Given the description of an element on the screen output the (x, y) to click on. 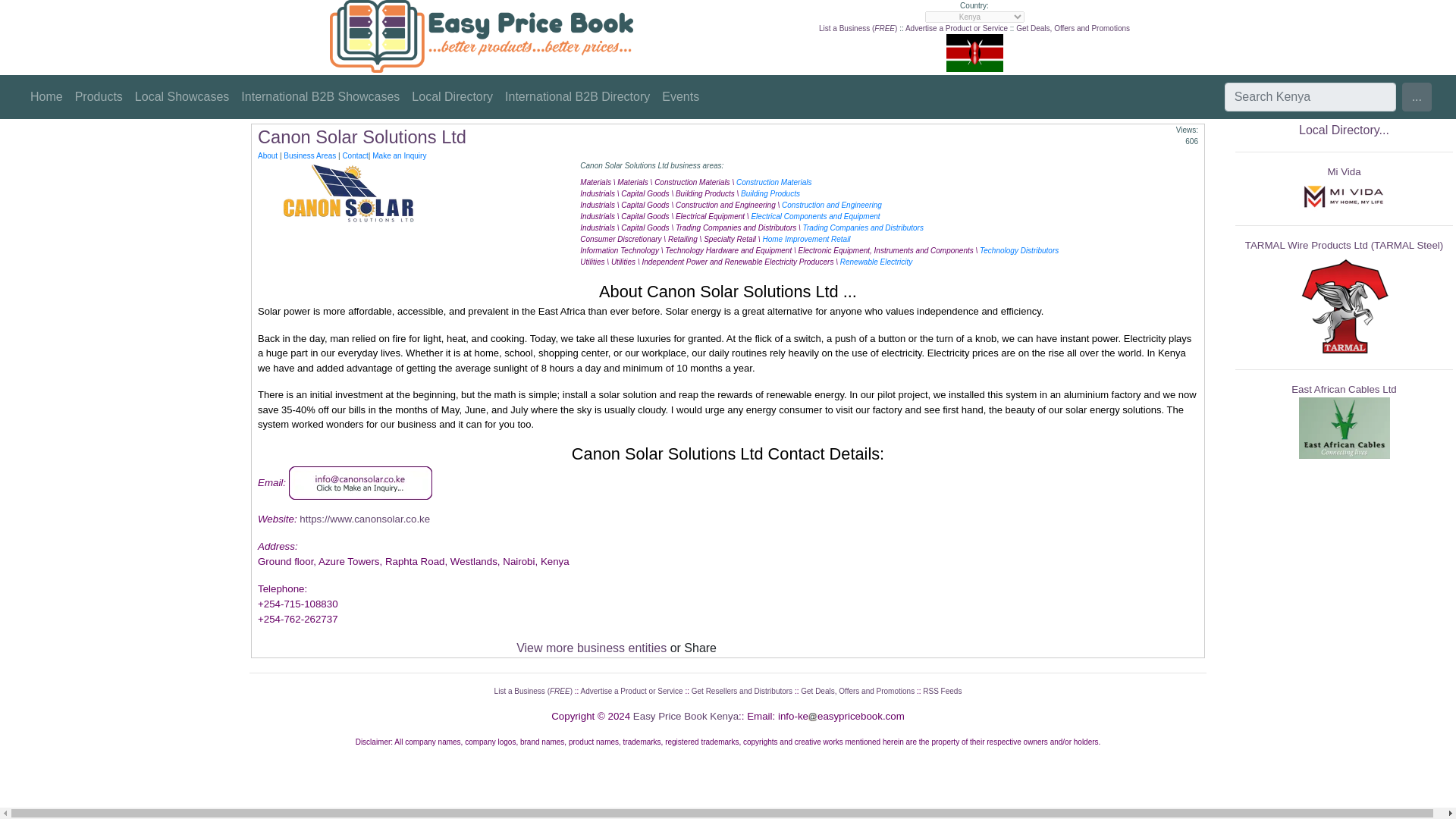
Local Directory (452, 96)
Home (46, 96)
About (267, 155)
... (1416, 96)
Local Showcases (182, 96)
Mi Vida (1342, 171)
View more business entities (591, 647)
Click to make an inquiry to Canon Solar Solutions Ltd (360, 481)
Make an Inquiry (399, 155)
Construction Materials (773, 182)
